Given the description of an element on the screen output the (x, y) to click on. 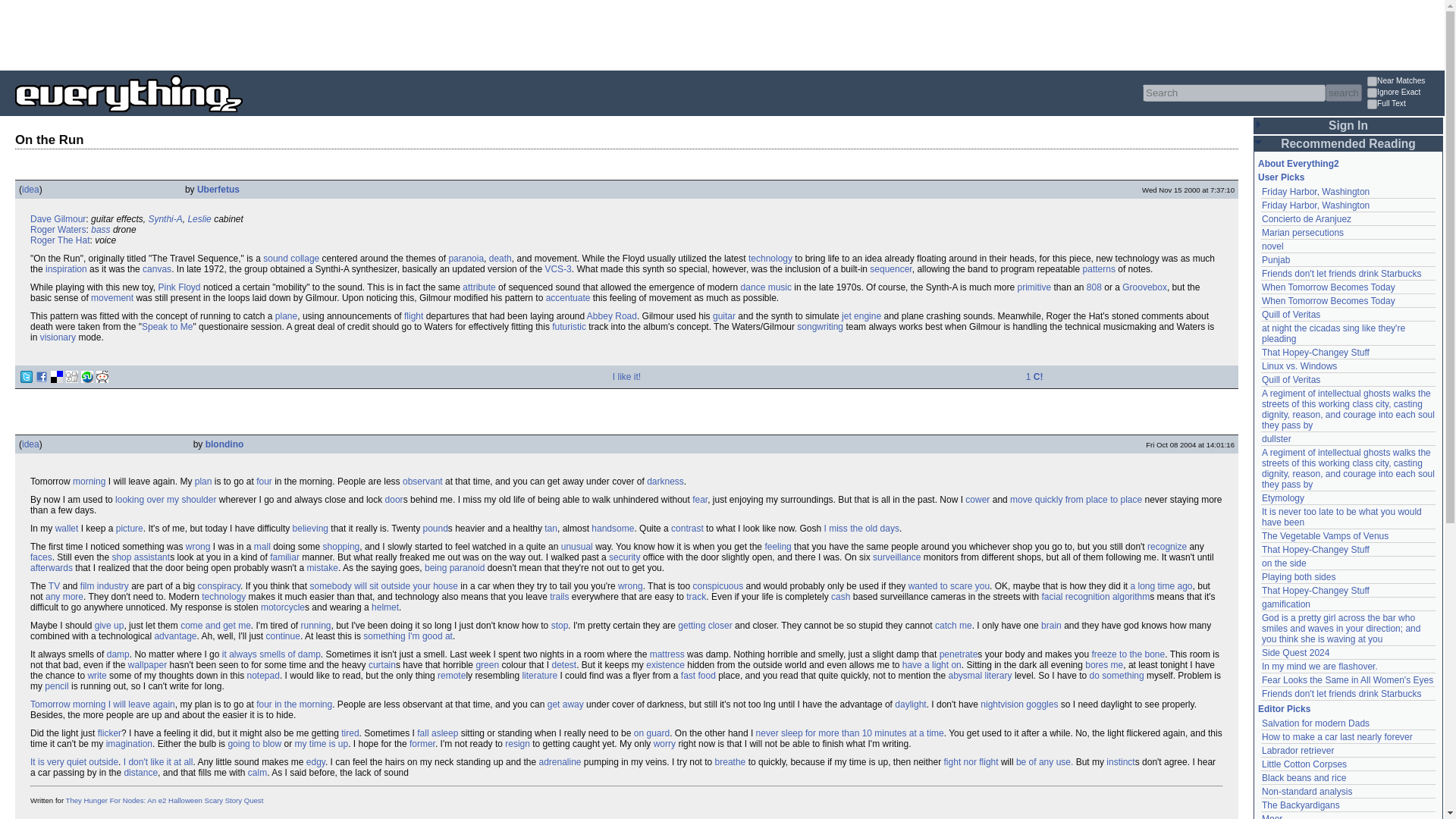
Roger The Hat (60, 240)
Pink Floyd (179, 286)
futuristic (568, 326)
canvas (156, 268)
Search for text within writeups (1404, 104)
Abbey Road (611, 316)
Dave Gilmour (57, 218)
patterns (1099, 268)
Everything (242, 117)
idea (30, 189)
inspiration (66, 268)
inspiration (66, 268)
technology (770, 258)
bass (100, 229)
Roger The Hat (60, 240)
